Given the description of an element on the screen output the (x, y) to click on. 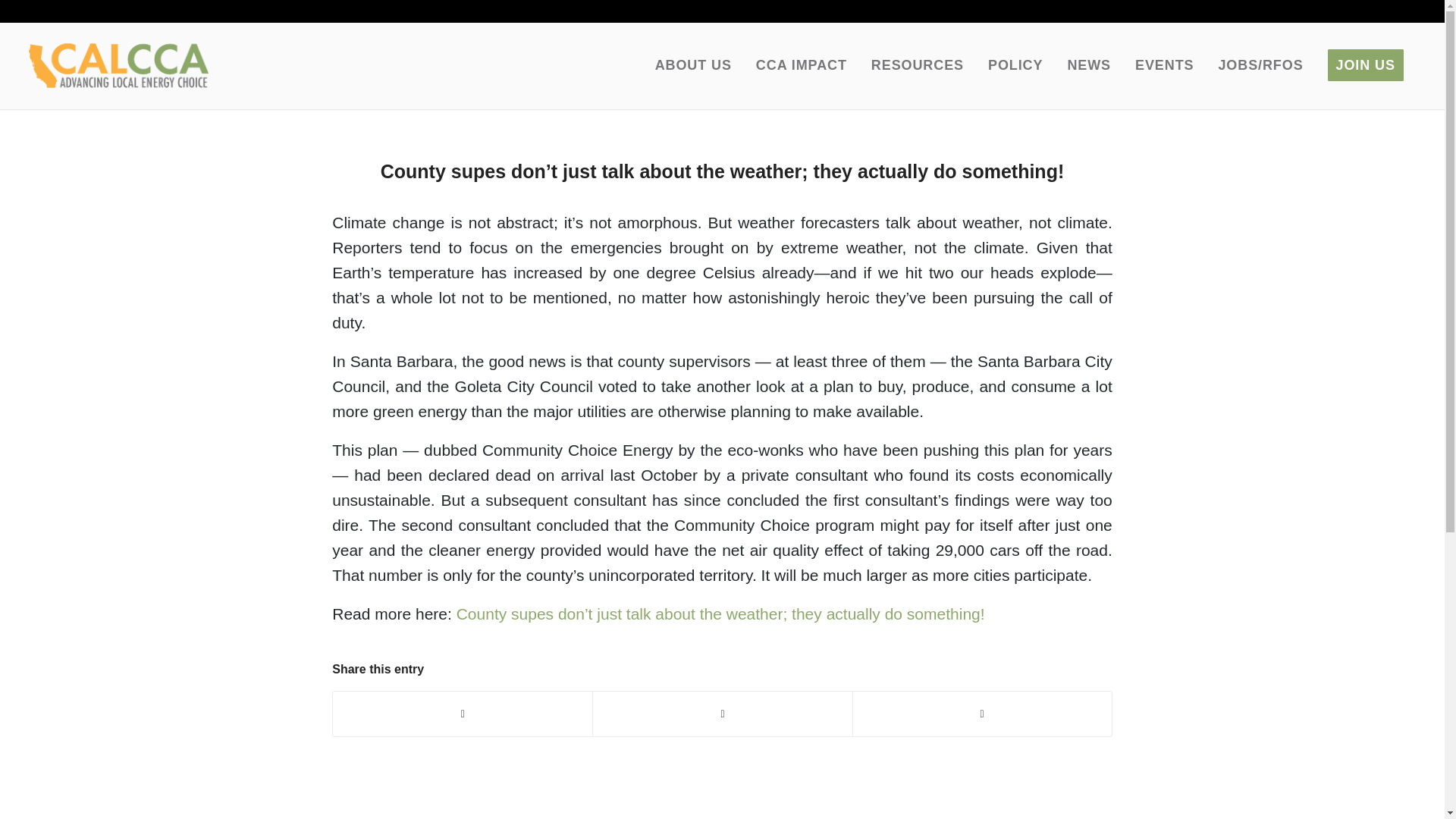
logo (118, 65)
JOIN US (1365, 65)
ABOUT US (693, 65)
POLICY (1014, 65)
RESOURCES (917, 65)
EVENTS (1163, 65)
CCA IMPACT (801, 65)
